Given the description of an element on the screen output the (x, y) to click on. 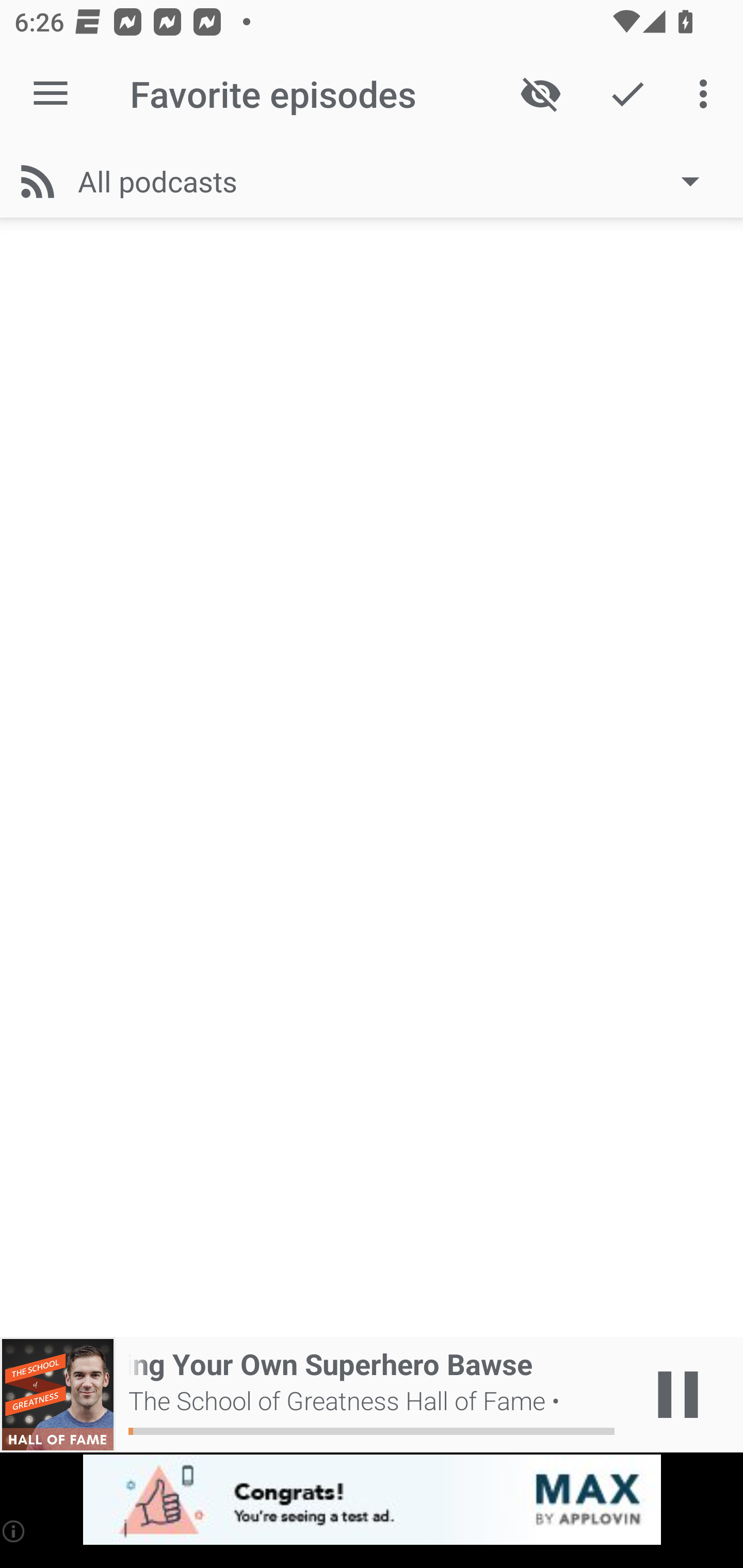
Open navigation sidebar (50, 93)
Show / Hide played content (540, 93)
Action Mode (626, 93)
More options (706, 93)
All podcasts (398, 180)
Play / Pause (677, 1394)
app-monetization (371, 1500)
(i) (14, 1531)
